Given the description of an element on the screen output the (x, y) to click on. 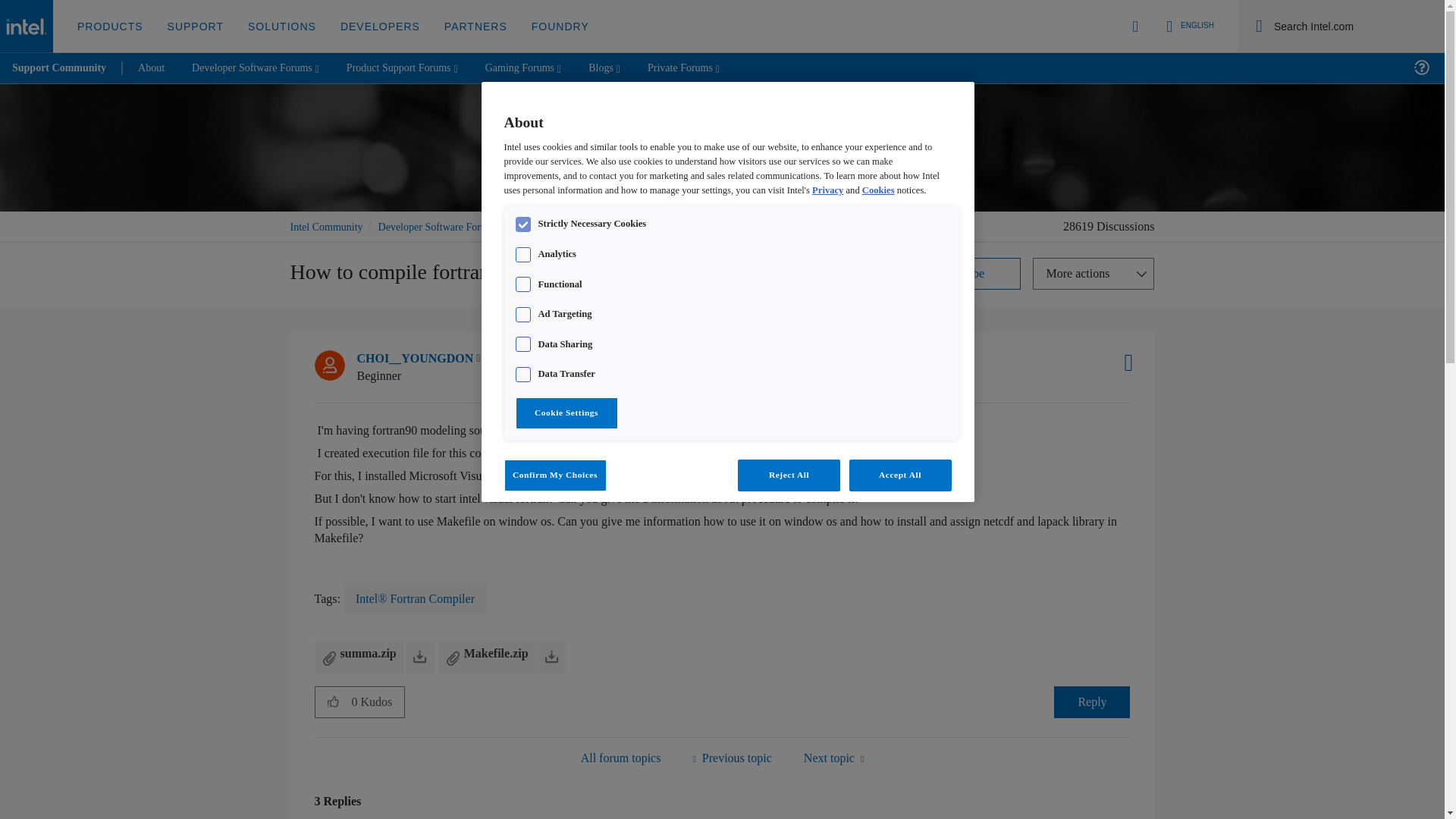
ListView Not Working in Intel Paralles Studio 2018 (833, 757)
Attachment (328, 657)
Click here to give kudos to this post. (332, 701)
Show option menu (1093, 273)
Download attachment (551, 656)
Download attachment (420, 656)
Language Selector (1187, 26)
Posted on (565, 367)
Attachment (453, 657)
The total number of kudos this post has received. (377, 702)
Seg fault on optional pointer argument (731, 757)
PRODUCTS (110, 26)
